Given the description of an element on the screen output the (x, y) to click on. 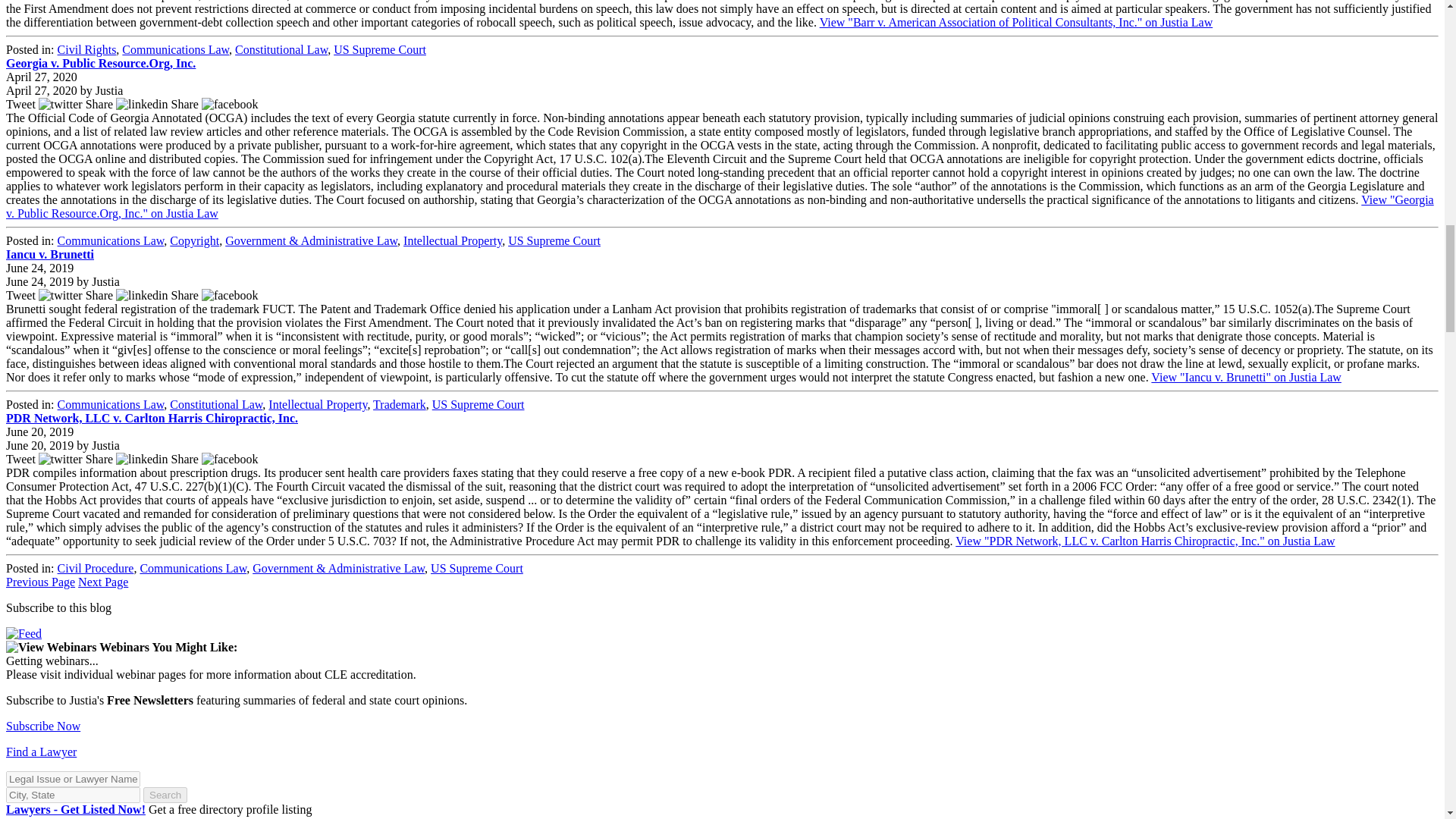
Search (164, 795)
Search (164, 795)
